Given the description of an element on the screen output the (x, y) to click on. 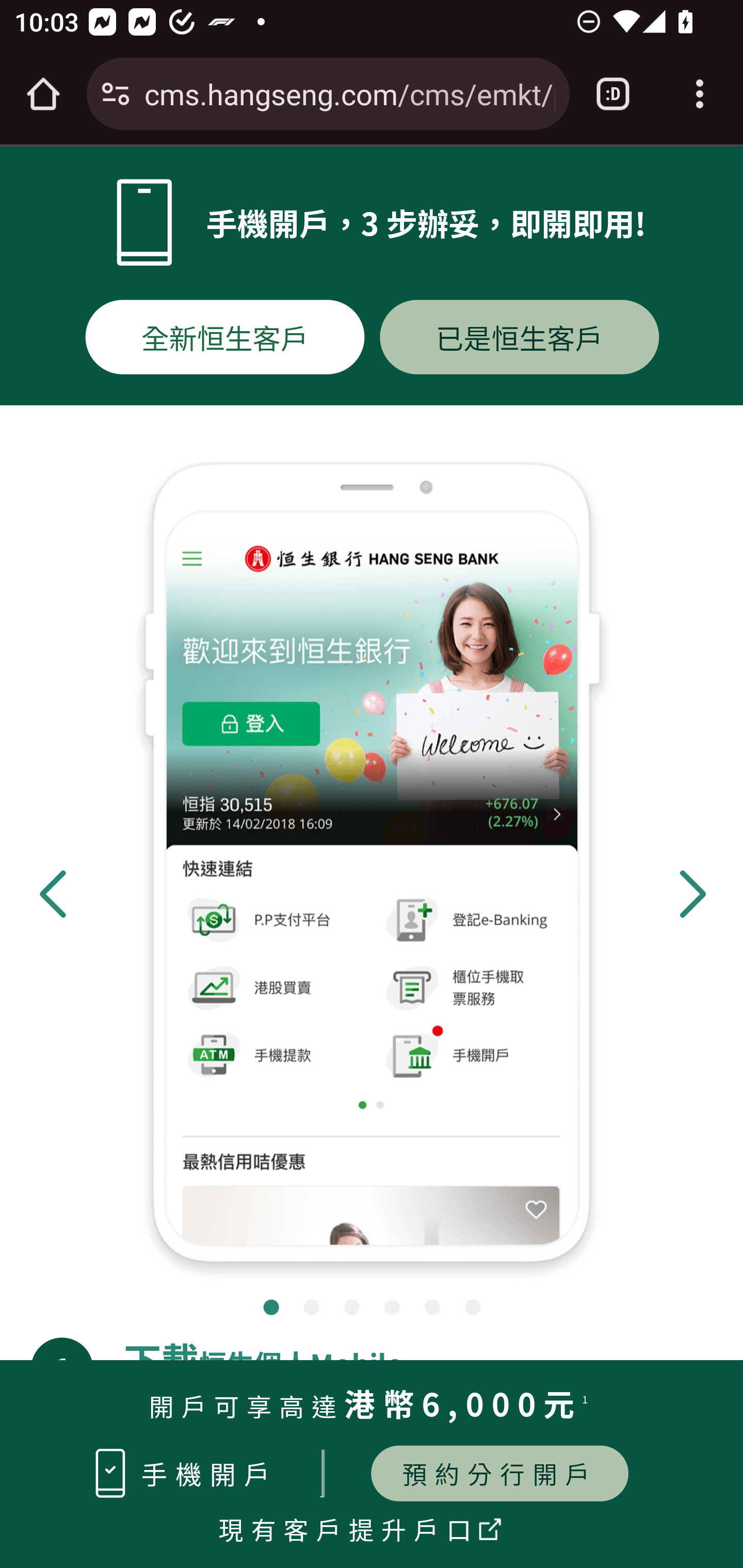
Open the home page (43, 93)
Connection is secure (115, 93)
Switch or close tabs (612, 93)
Customize and control Google Chrome (699, 93)
